Given the description of an element on the screen output the (x, y) to click on. 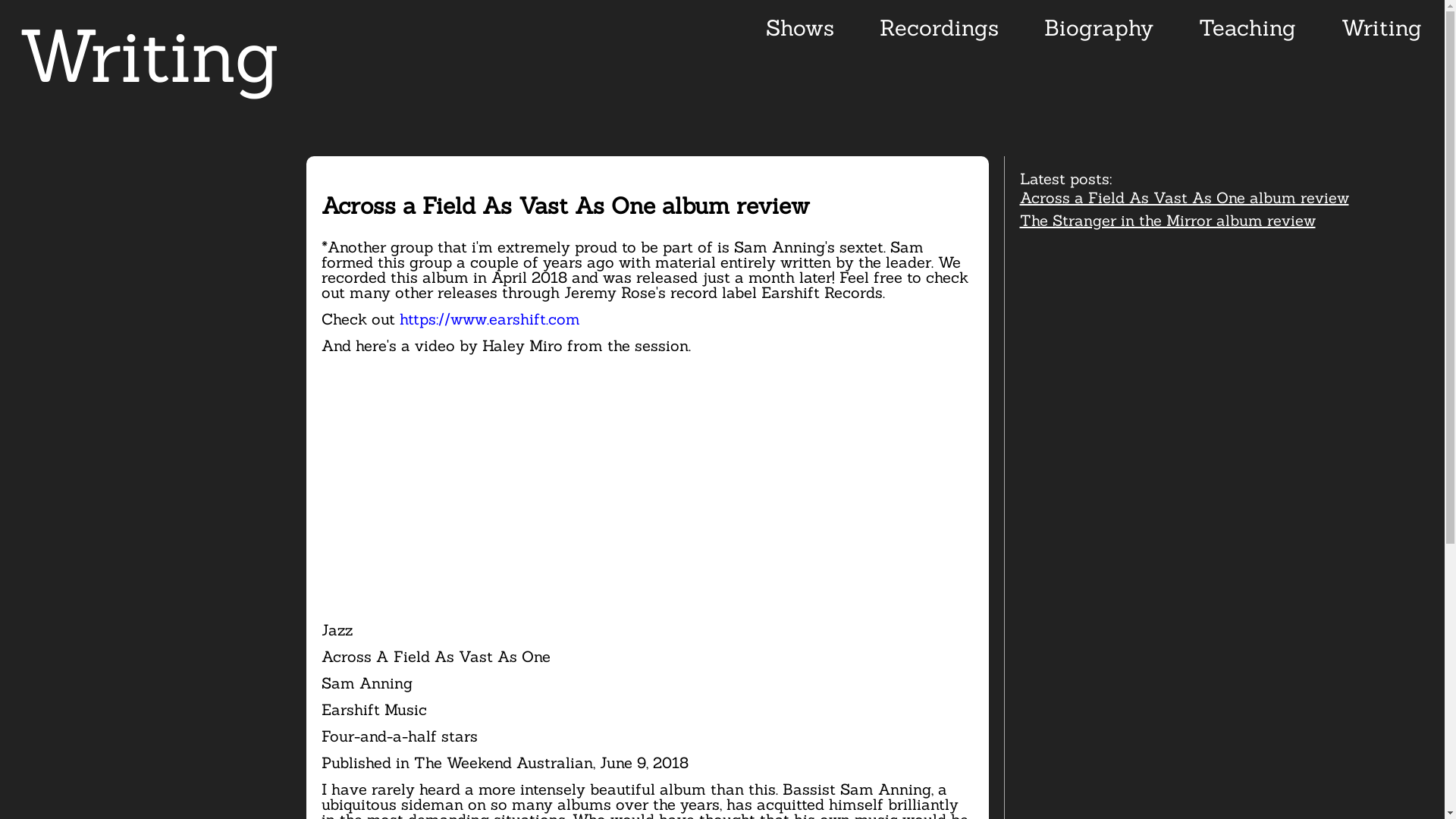
Across a Field As Vast As One album review Element type: text (1183, 197)
Teaching Element type: text (1246, 27)
Recordings Element type: text (938, 27)
The Stranger in the Mirror album review Element type: text (1166, 219)
Writing Element type: text (1381, 27)
https://www.earshift.com Element type: text (488, 318)
Biography Element type: text (1098, 27)
Shows Element type: text (799, 27)
